Given the description of an element on the screen output the (x, y) to click on. 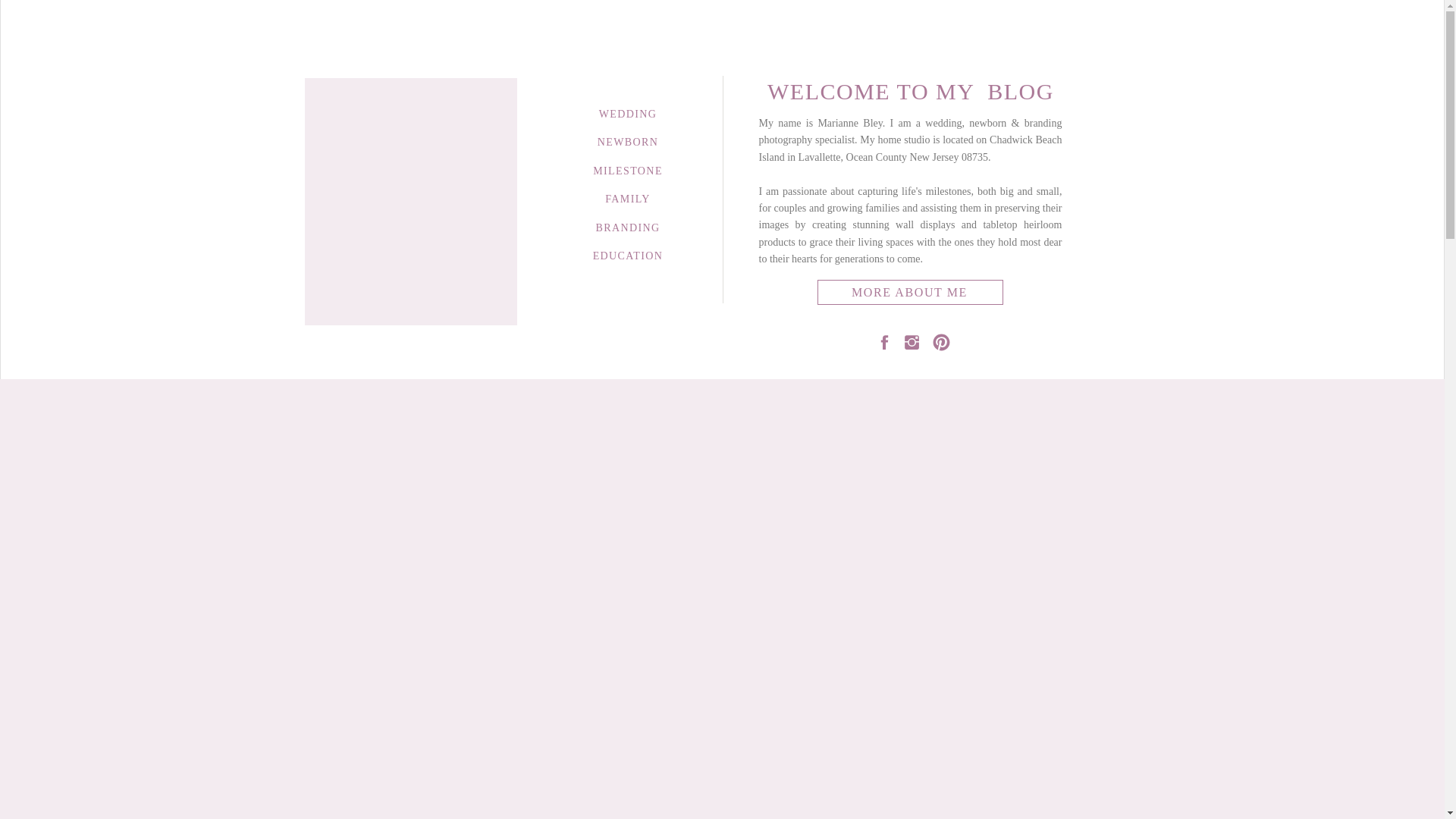
BRANDING (850, 70)
BRANDING (627, 225)
WEDDING (627, 111)
CONTACT (1126, 71)
ABOUT (309, 69)
BLOG (1001, 70)
FAMILY (627, 196)
CLIENTS (1058, 70)
REAL ESTATE (1119, 34)
MILESTONE (527, 69)
